Given the description of an element on the screen output the (x, y) to click on. 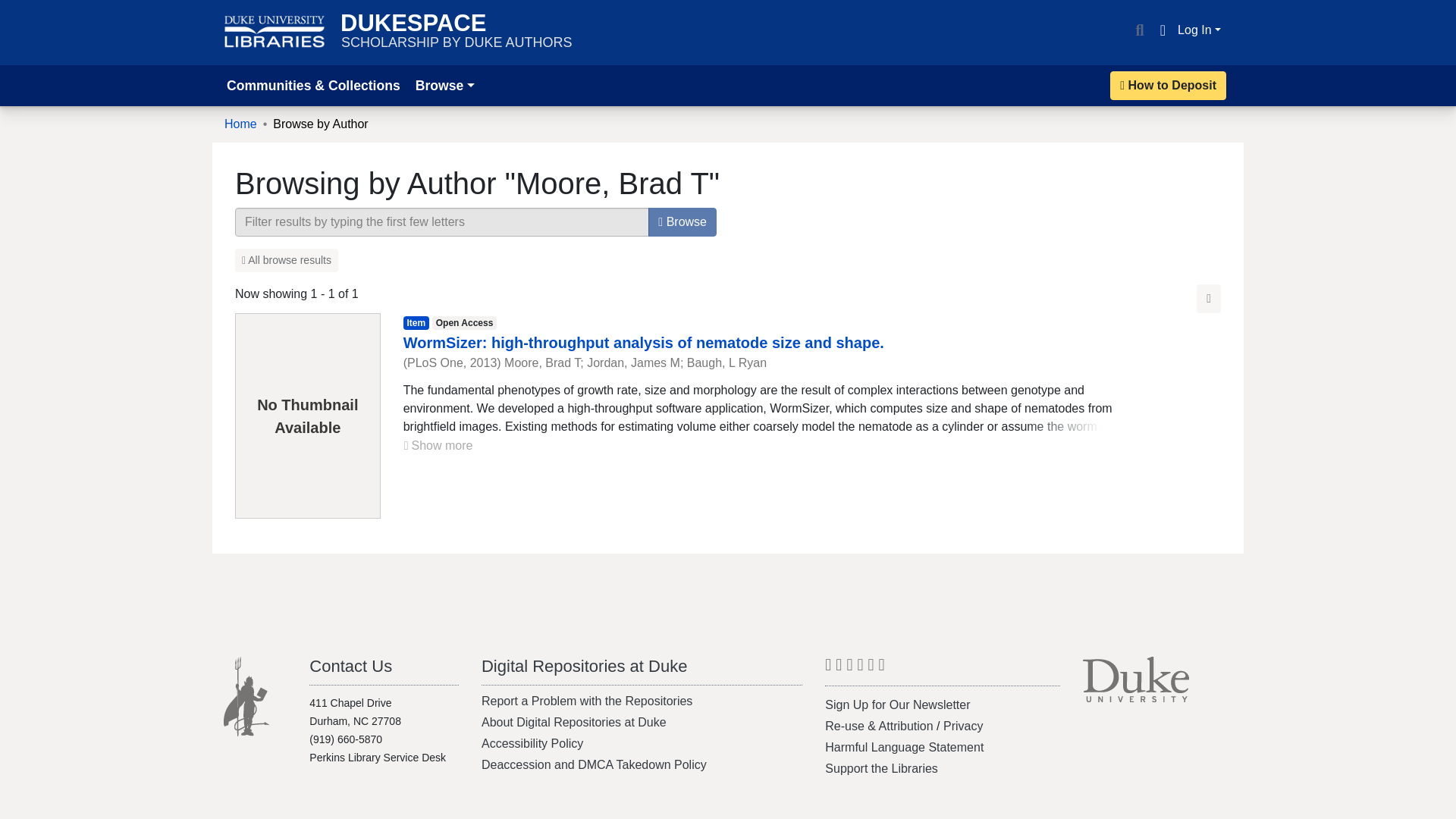
Duke University Libraries (274, 32)
Contact Us (456, 32)
Language switch (349, 665)
Skip to Main Content (1162, 30)
How to Deposit (18, 9)
Report a Problem with the Repositories (1167, 85)
Browse (587, 700)
Digital Repositories at Duke (681, 222)
Home (584, 665)
All browse results (240, 124)
Show more (285, 259)
Search (438, 445)
Browse (1138, 30)
